Given the description of an element on the screen output the (x, y) to click on. 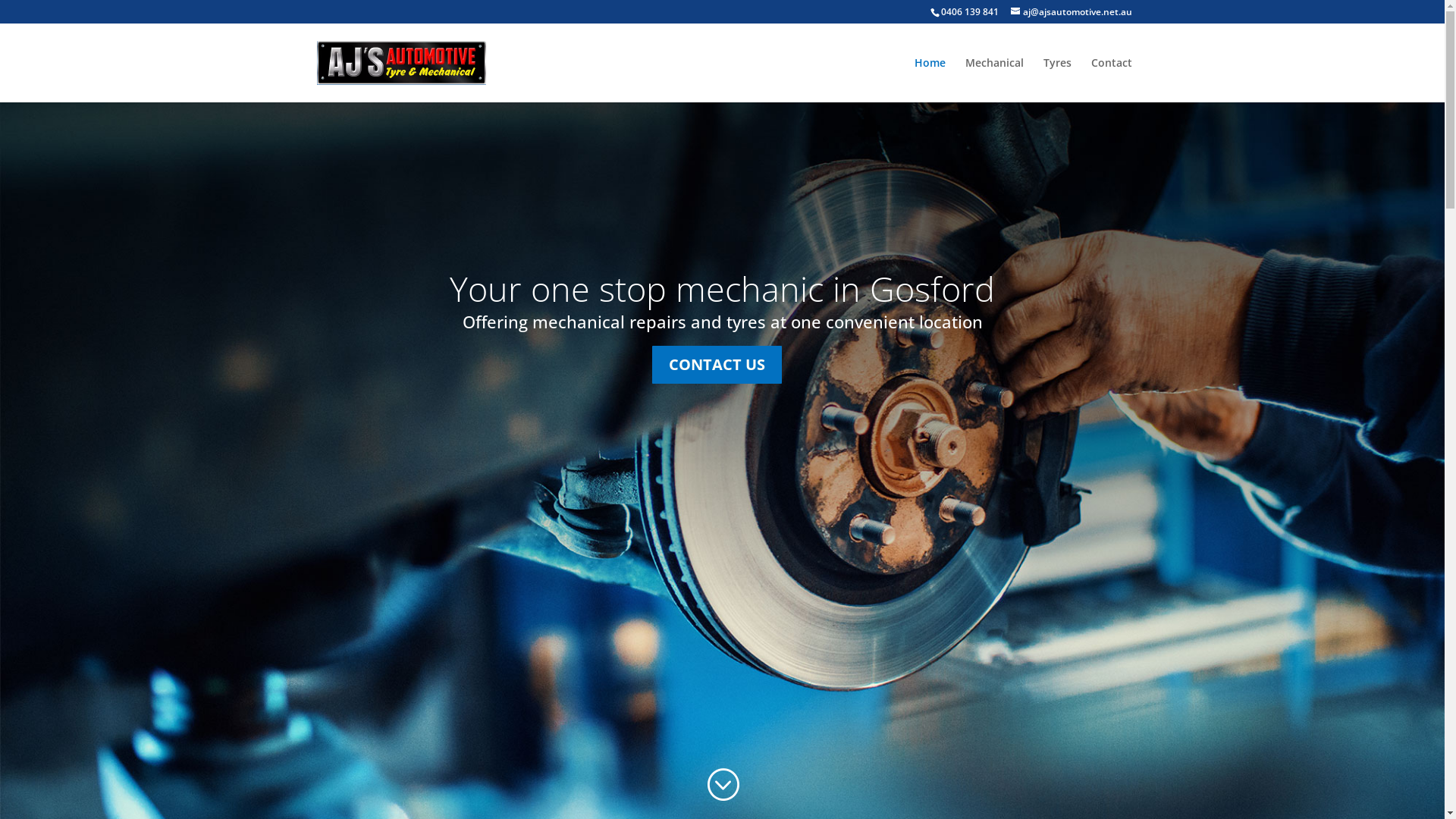
CONTACT US Element type: text (716, 364)
Home Element type: text (929, 79)
Contact Element type: text (1110, 79)
Tyres Element type: text (1057, 79)
aj@ajsautomotive.net.au Element type: text (1070, 11)
; Element type: text (722, 784)
Mechanical Element type: text (993, 79)
